Given the description of an element on the screen output the (x, y) to click on. 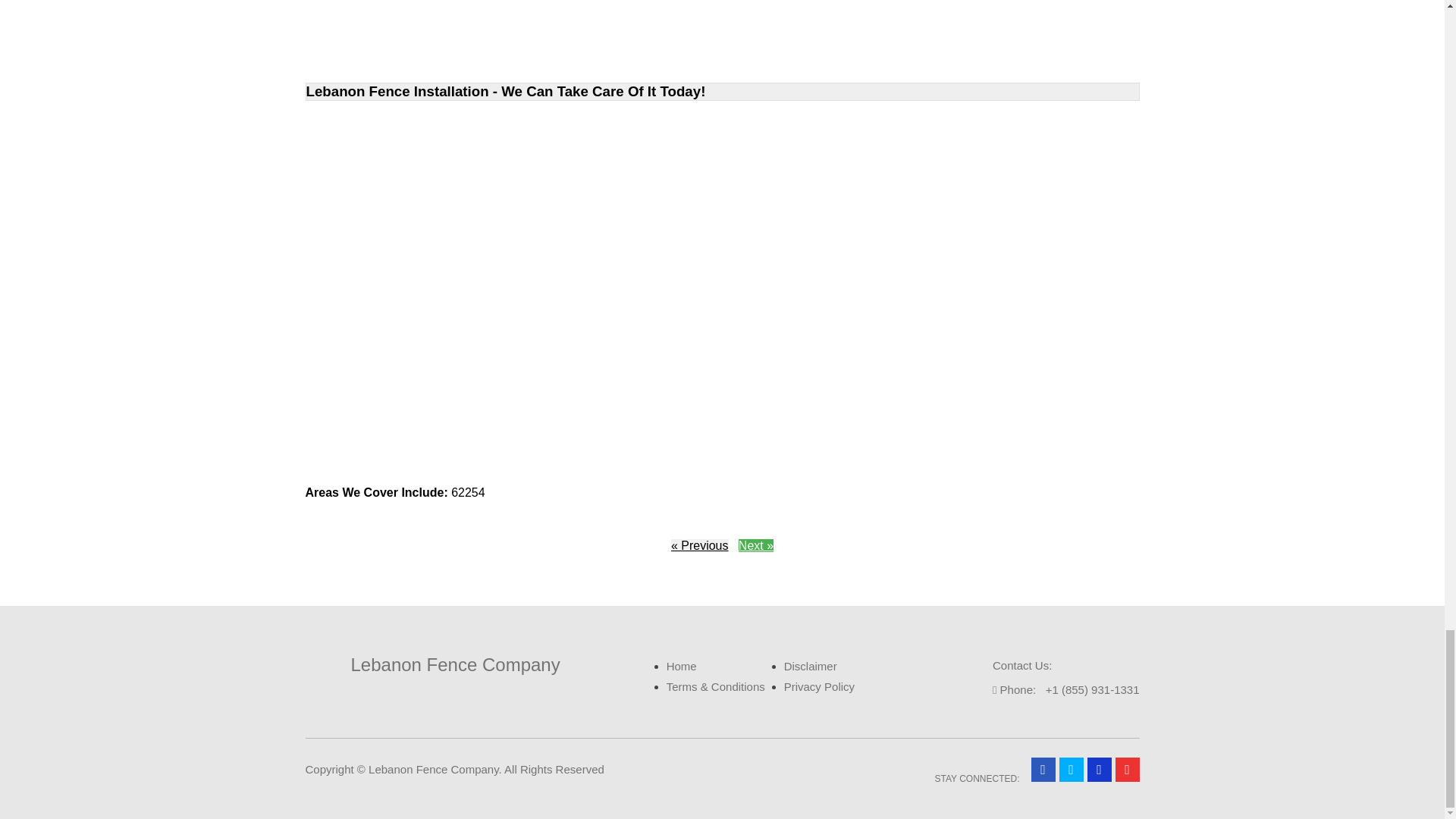
Home (681, 666)
Disclaimer (810, 666)
Privacy Policy (819, 686)
Lebanon Fence Company (431, 664)
